Given the description of an element on the screen output the (x, y) to click on. 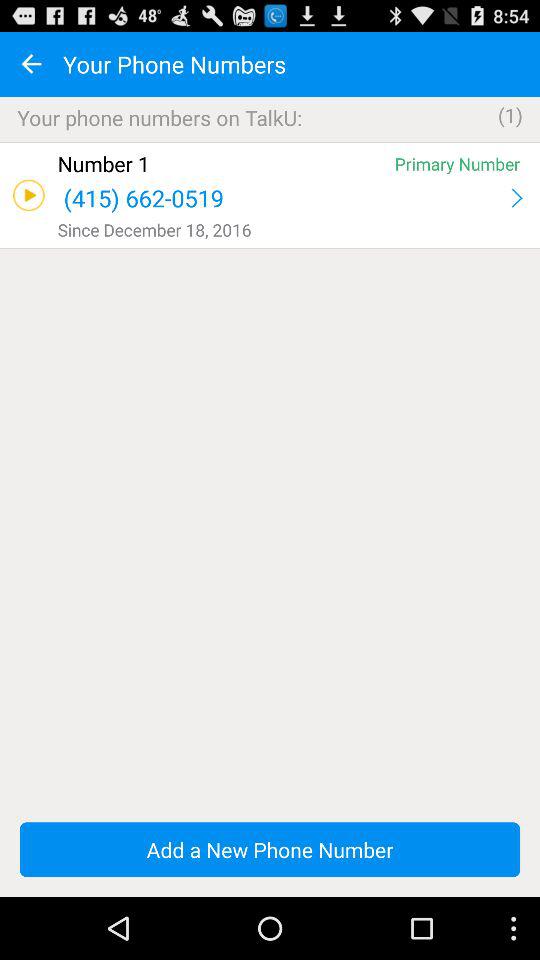
turn on the item above number 1 app (270, 142)
